Given the description of an element on the screen output the (x, y) to click on. 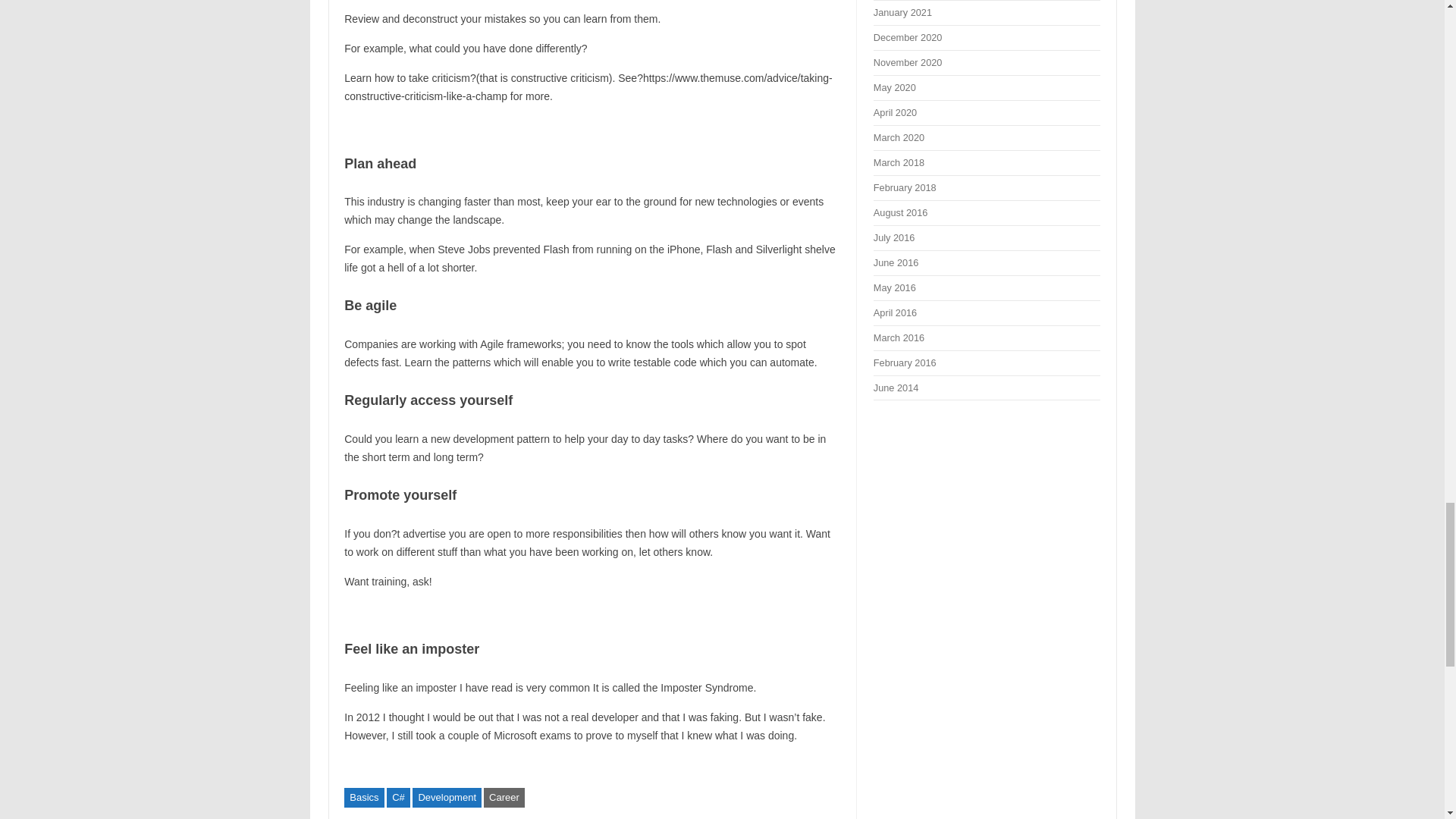
Development (446, 797)
Basics (363, 797)
Career (503, 797)
